Given the description of an element on the screen output the (x, y) to click on. 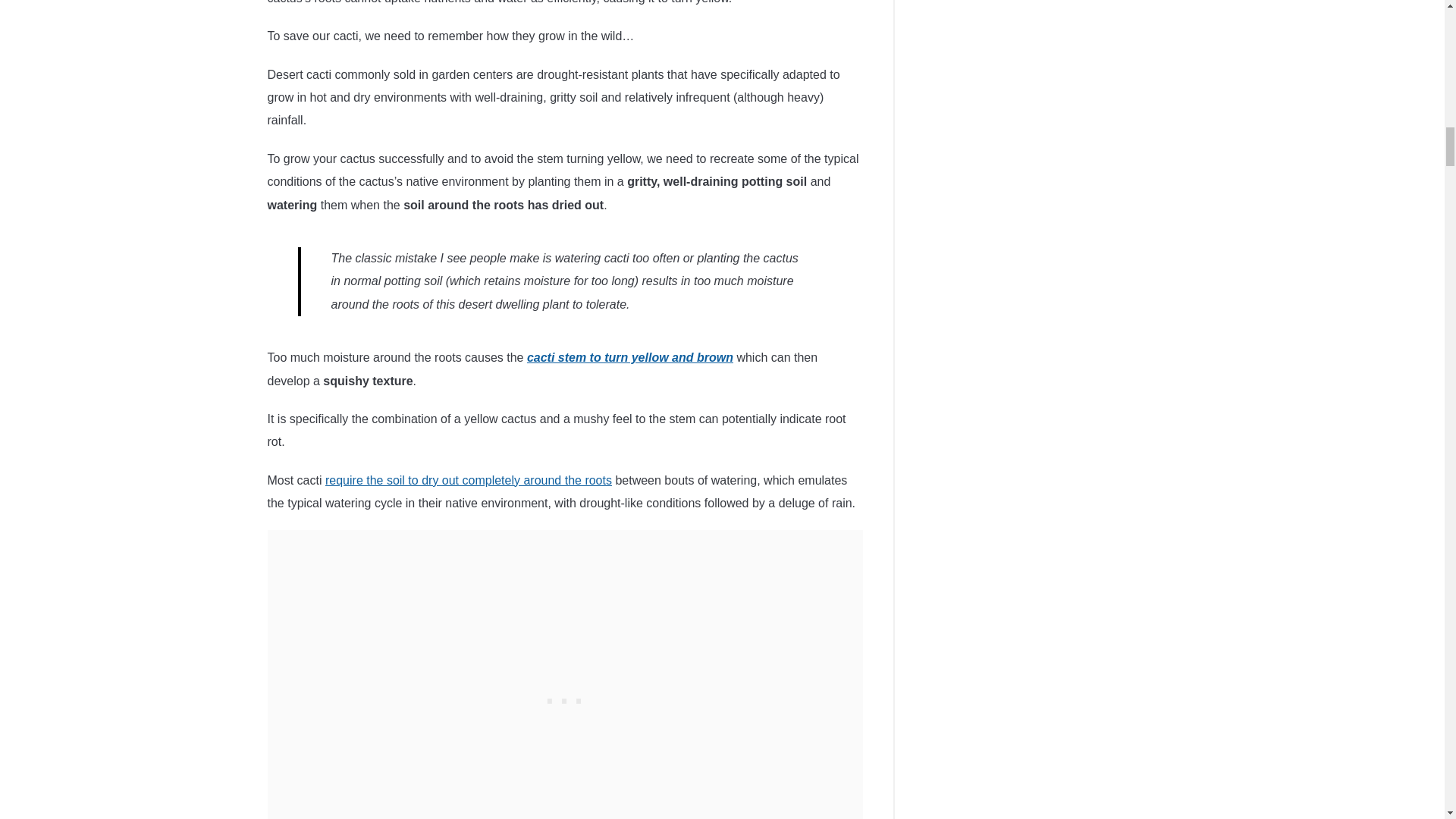
cacti stem to turn yellow and brown (630, 357)
require the soil to dry out completely around the roots (467, 480)
